Given the description of an element on the screen output the (x, y) to click on. 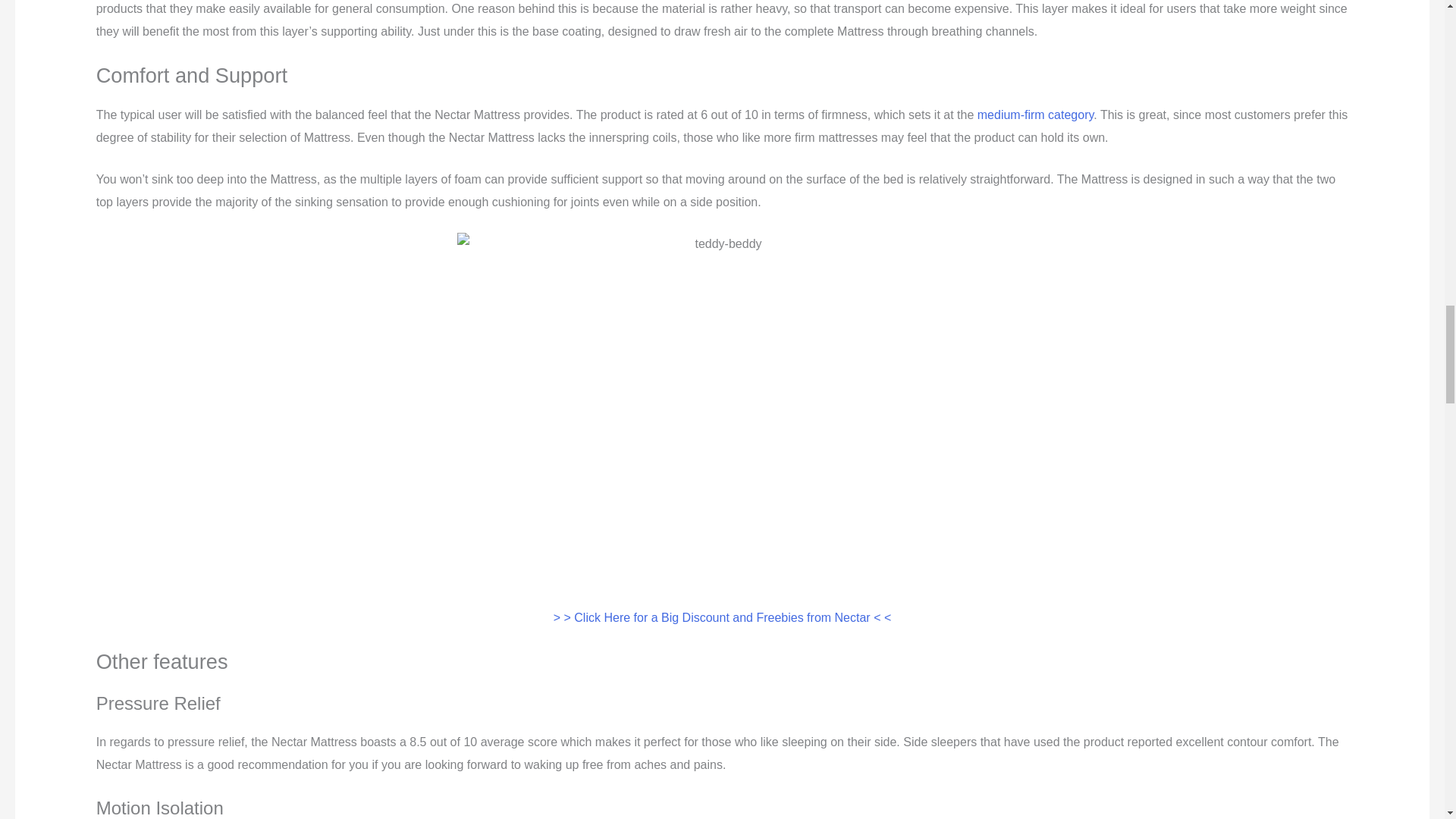
medium-firm category (1035, 114)
